Given the description of an element on the screen output the (x, y) to click on. 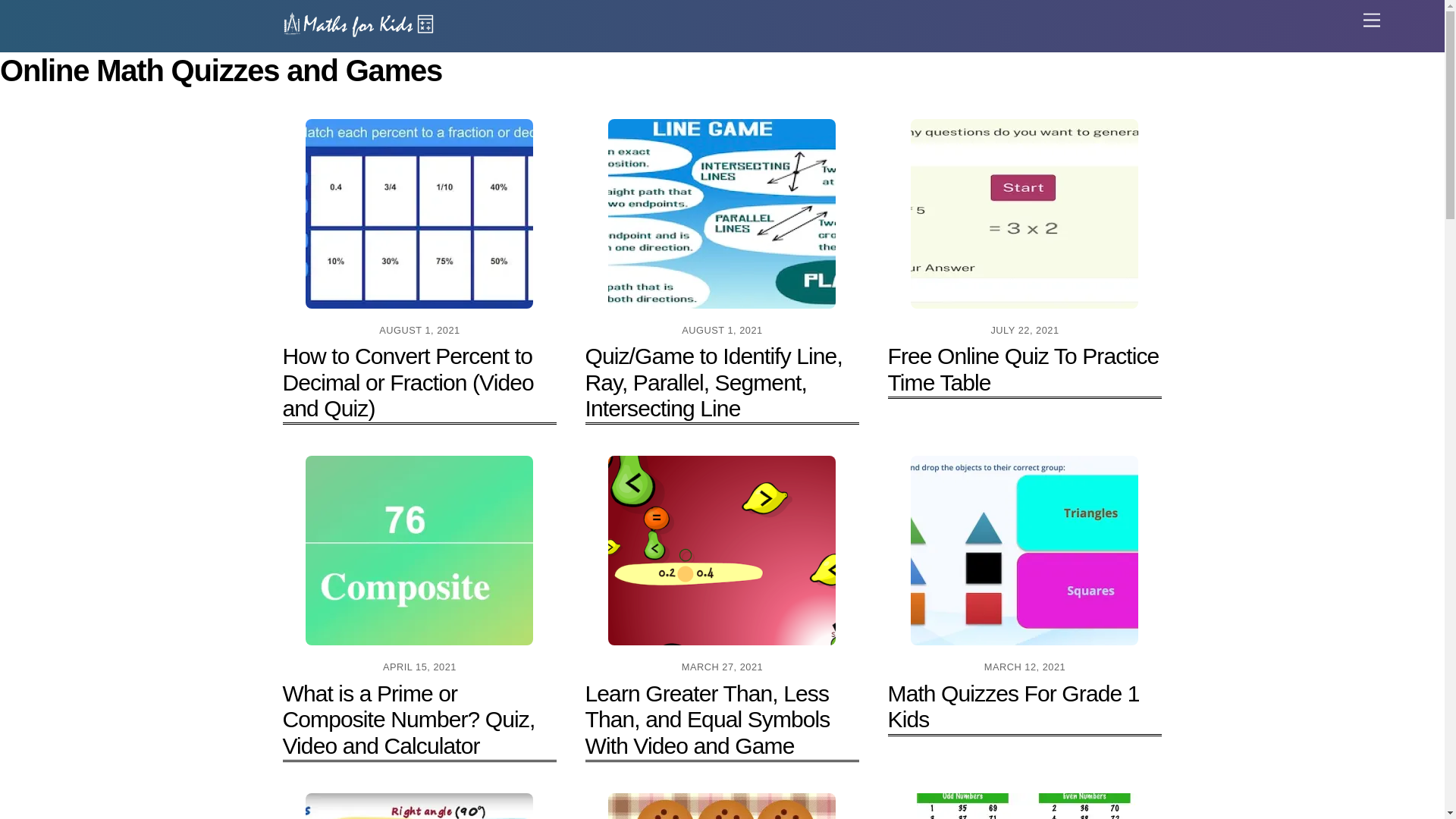
prime and composite (418, 550)
Math Quizzes For Grade 1 Kids (1014, 706)
Maths for Kids (357, 32)
lines quiz (721, 213)
compare numbers (721, 550)
odd and even number-min (1024, 806)
fraction (418, 213)
Free Online Quiz To Practice Time Table (1023, 368)
time table quiz (1024, 213)
